Given the description of an element on the screen output the (x, y) to click on. 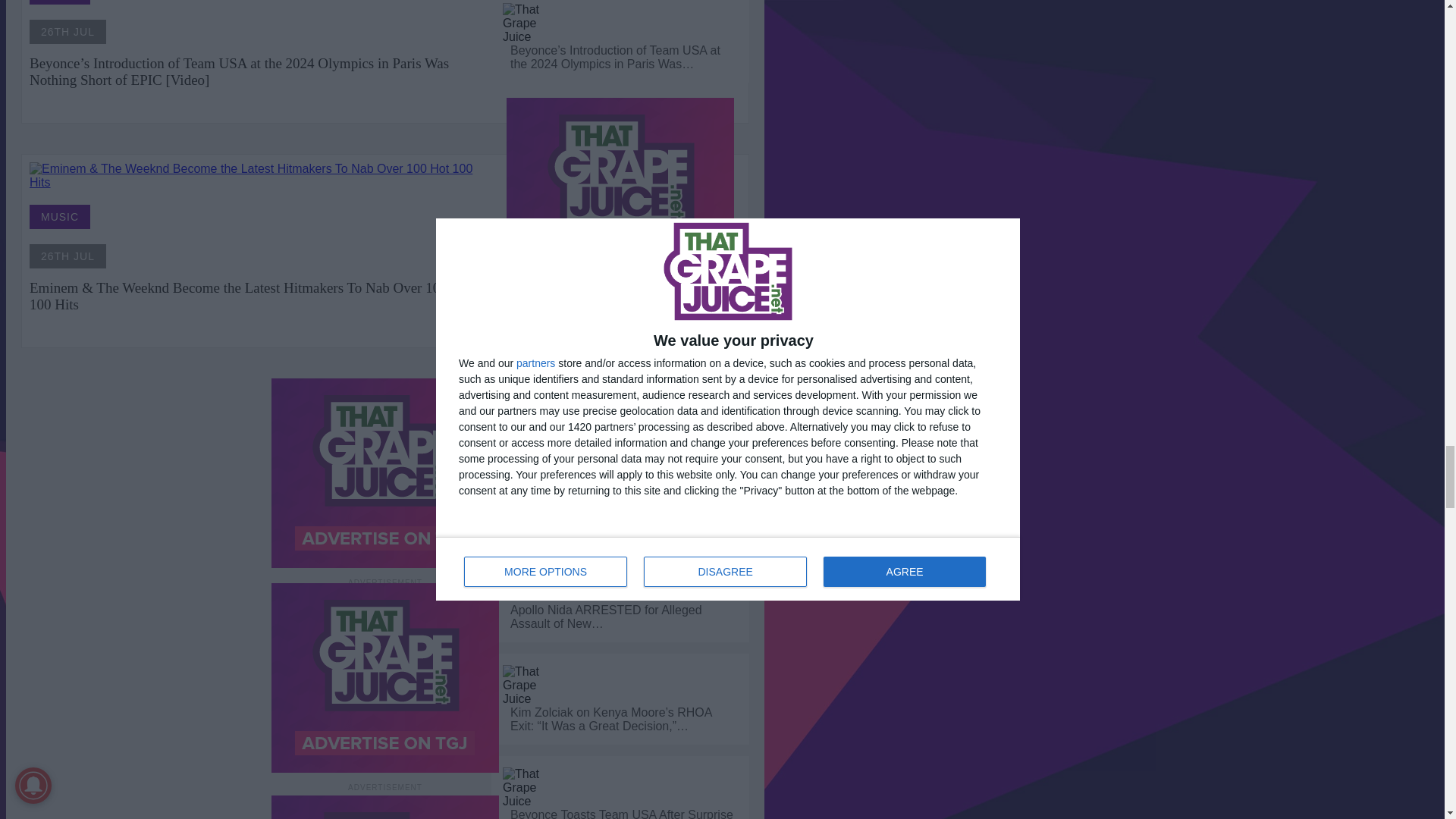
That Grape Juice (529, 23)
